Given the description of an element on the screen output the (x, y) to click on. 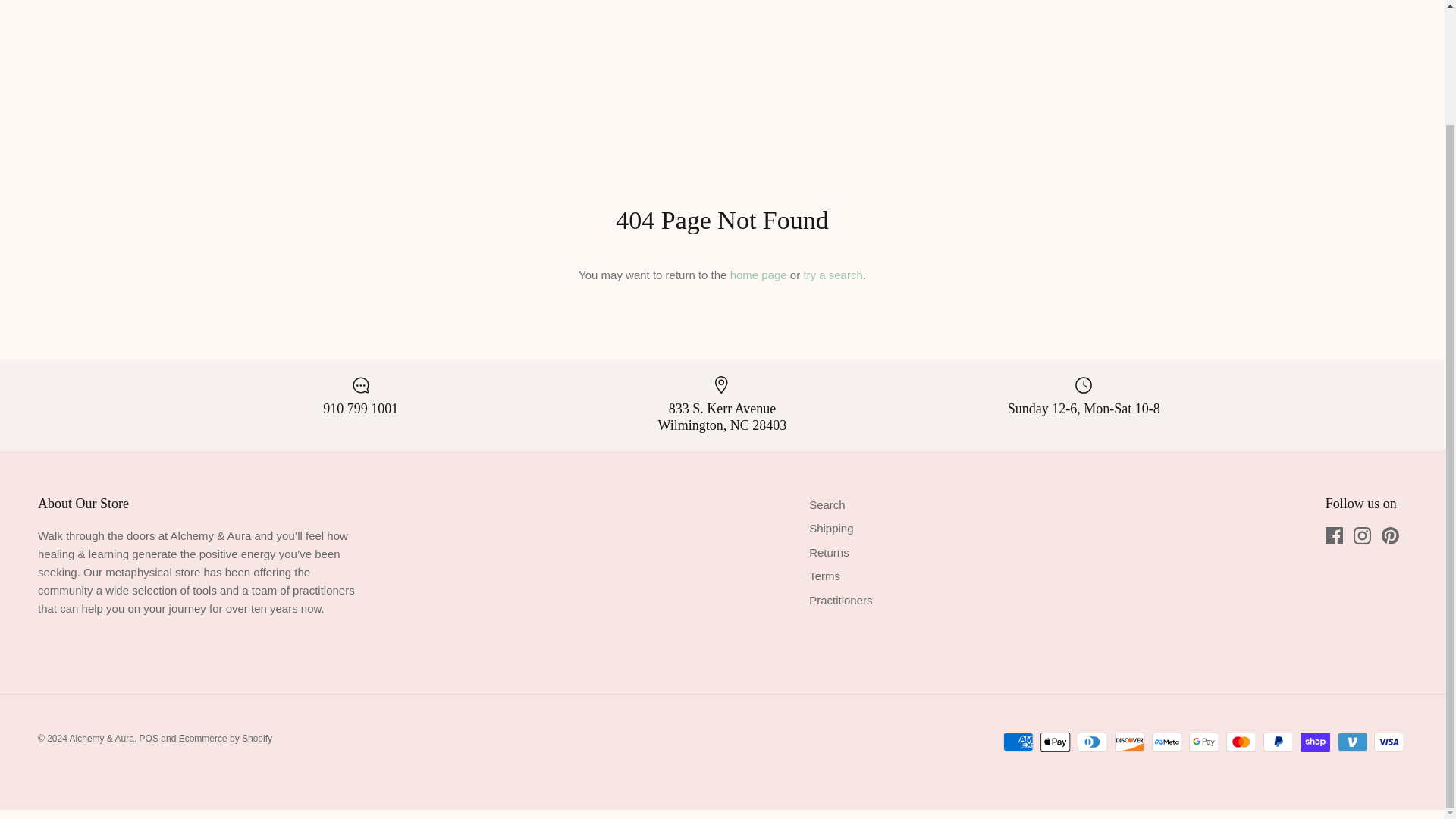
Meta Pay (1166, 741)
Pinterest (1390, 535)
Google Pay (1203, 741)
Shop Pay (1315, 741)
Diners Club (1092, 741)
Facebook (1333, 535)
Discover (1129, 741)
Instagram (1362, 535)
Mastercard (1240, 741)
Venmo (1352, 741)
Visa (1388, 741)
PayPal (1277, 741)
American Express (1018, 741)
Apple Pay (1055, 741)
